Given the description of an element on the screen output the (x, y) to click on. 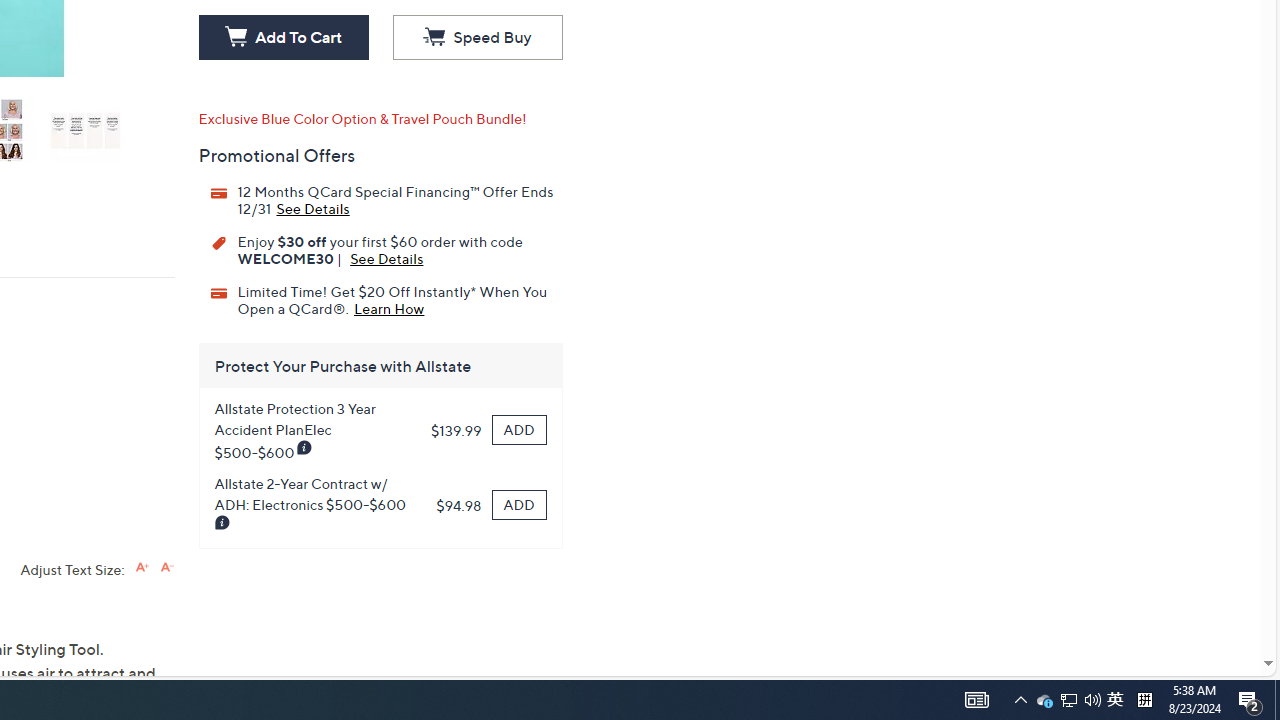
12 Months QCard Special Financing Offer Ends 12/31 (312, 207)
Add To Cart (283, 38)
Decrease font size (166, 566)
Class: infoIcon fancybox fancybox.ajax (222, 523)
Learn How (389, 307)
Increase font size (141, 566)
Speed Buy (477, 38)
See Details (386, 258)
